Given the description of an element on the screen output the (x, y) to click on. 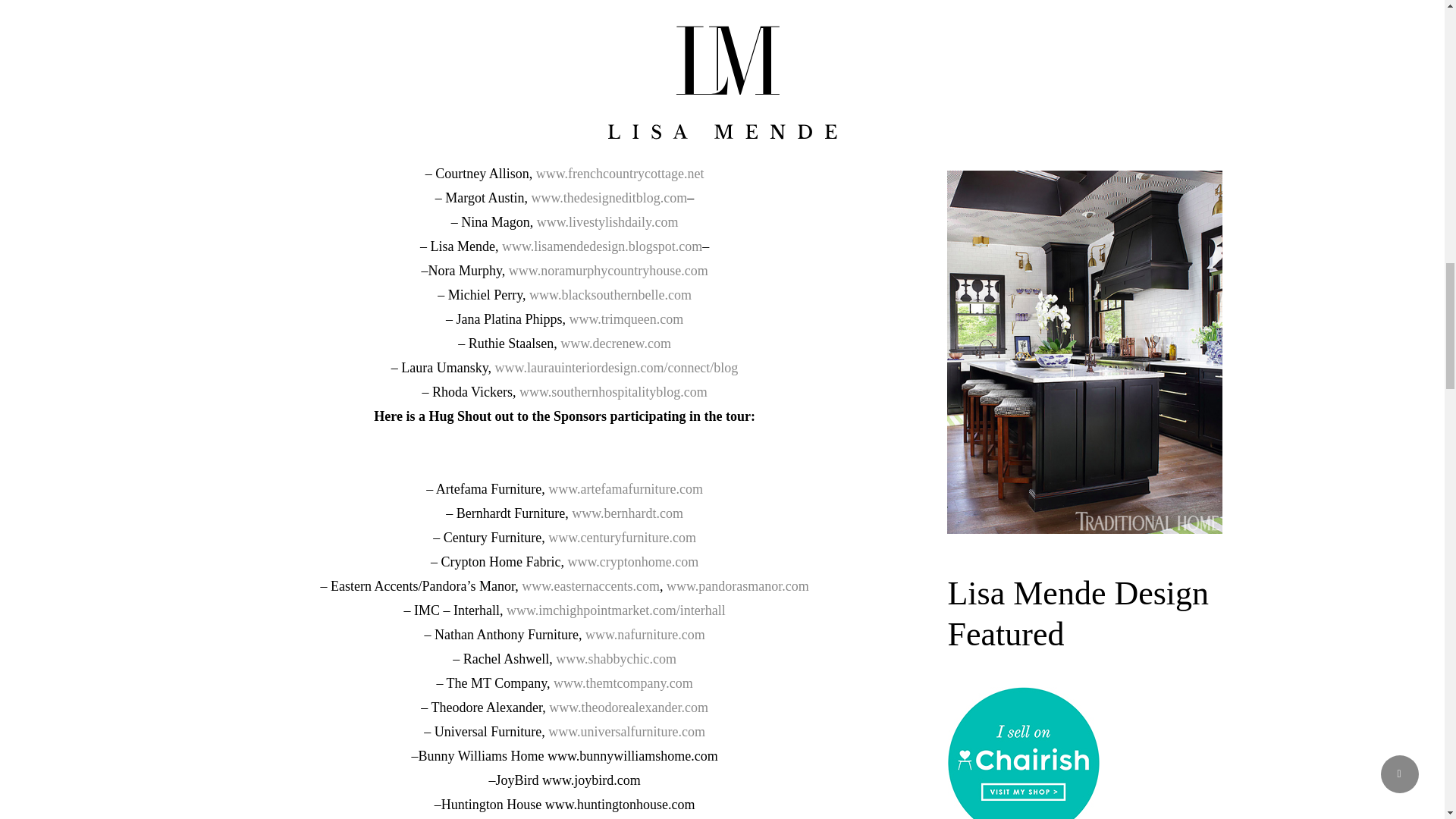
www.thedesigneditblog.com (609, 197)
www.universalfurniture.com (626, 731)
www.shabbychic.com (616, 658)
www.southernhospitalityblog.com (613, 391)
www.cryptonhome.com (632, 561)
www.blacksouthernbelle.com (610, 294)
www.lisamendedesign.blogspot.com (601, 246)
www.trimqueen.com (625, 319)
www.theodorealexander.com (627, 707)
www.decrenew.com (615, 343)
